Given the description of an element on the screen output the (x, y) to click on. 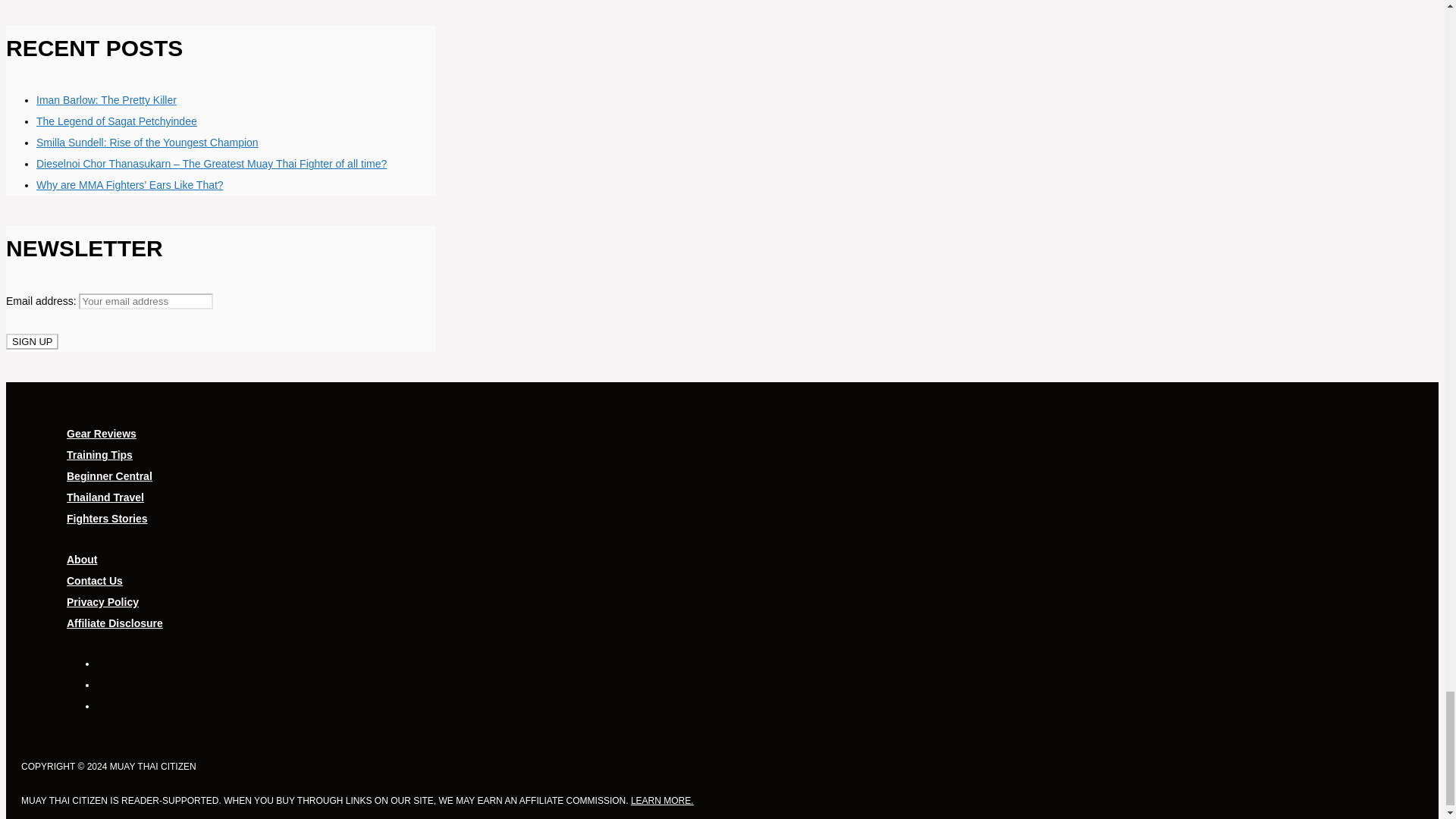
Sign up (31, 341)
